Given the description of an element on the screen output the (x, y) to click on. 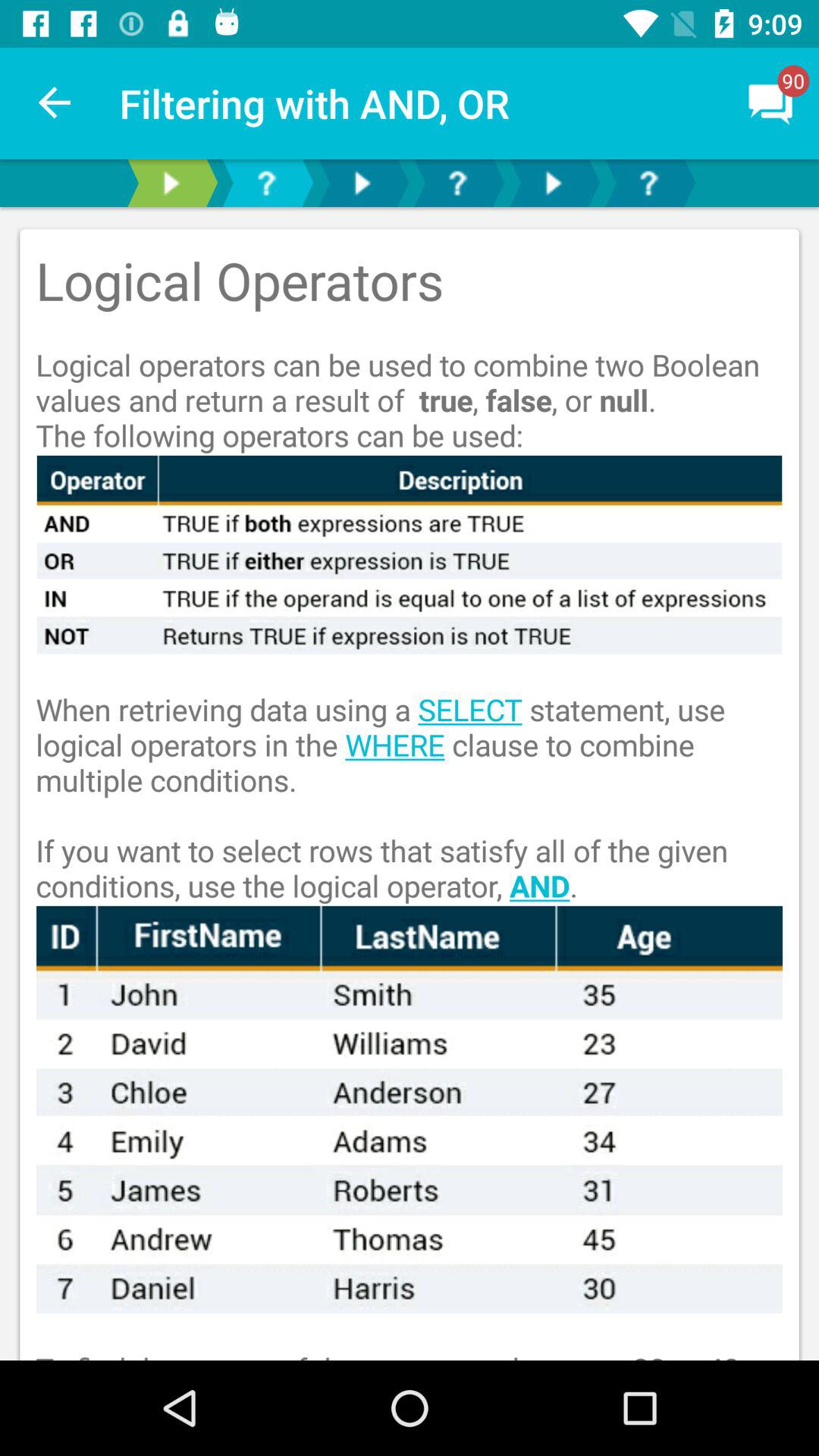
view help menu (648, 183)
